Given the description of an element on the screen output the (x, y) to click on. 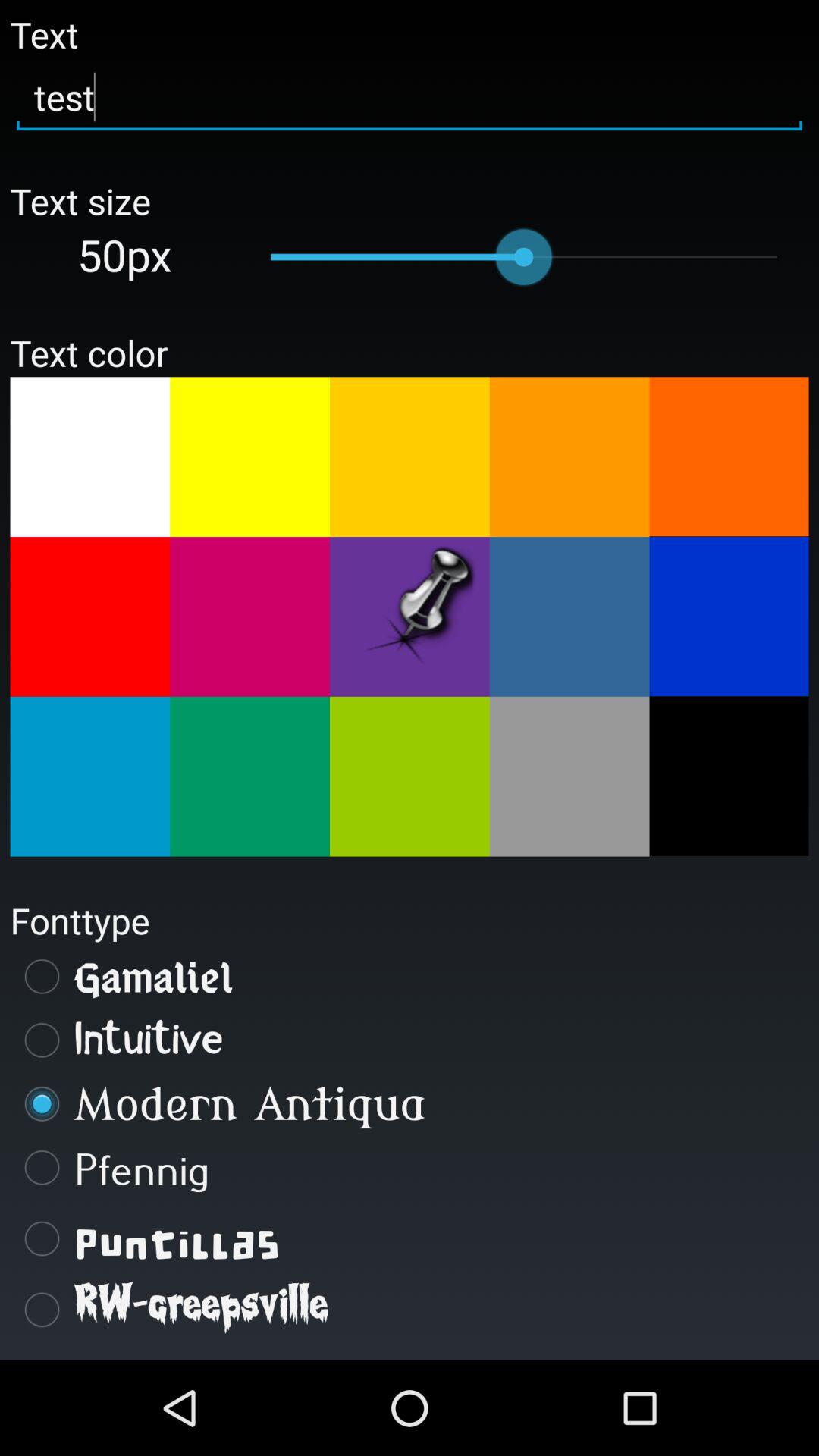
choose text color (90, 776)
